Given the description of an element on the screen output the (x, y) to click on. 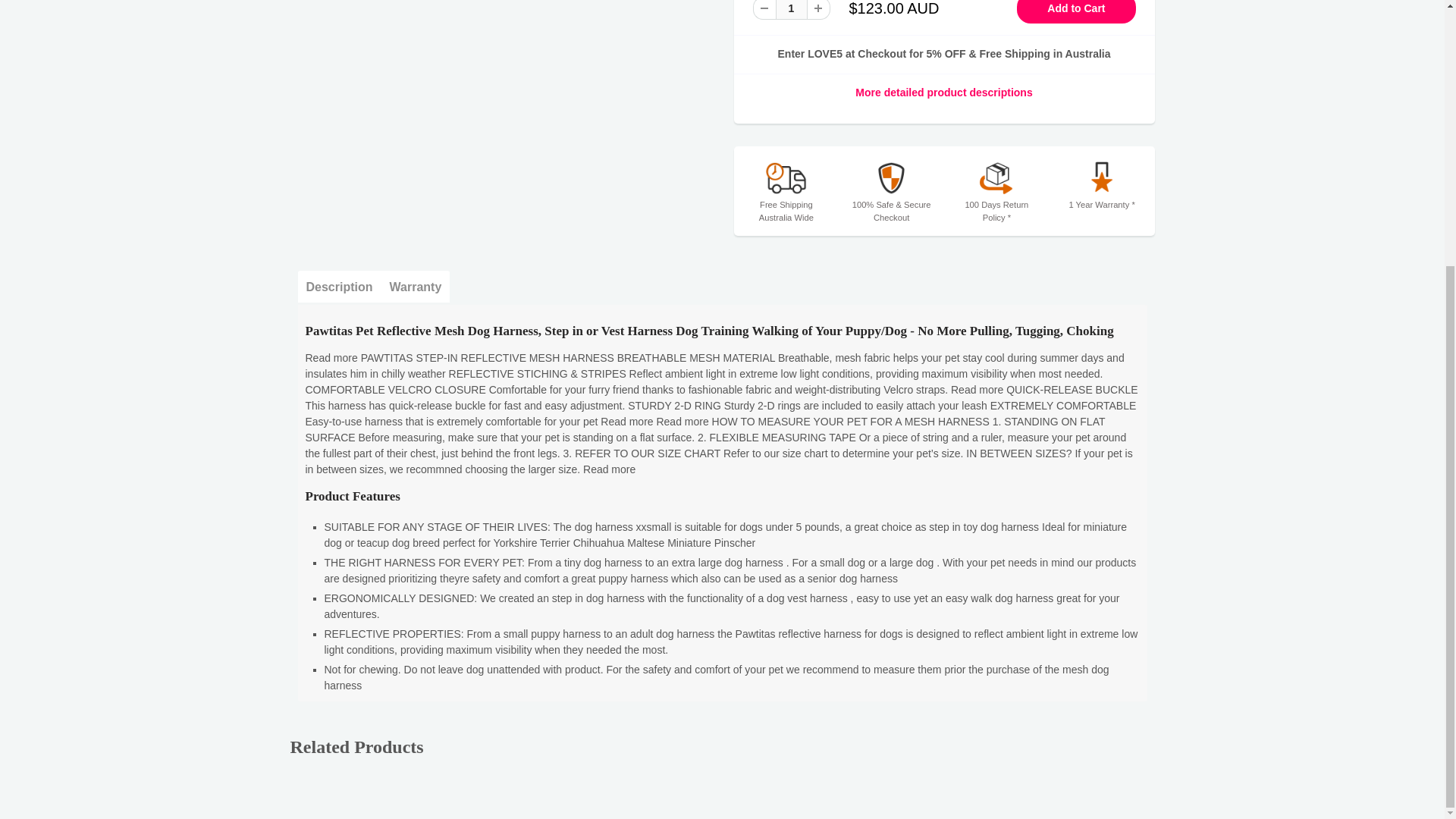
Add to Cart (1075, 11)
Add to Cart (1075, 11)
1 (790, 9)
More detailed product descriptions (943, 92)
Description (338, 286)
Warranty (415, 286)
